Given the description of an element on the screen output the (x, y) to click on. 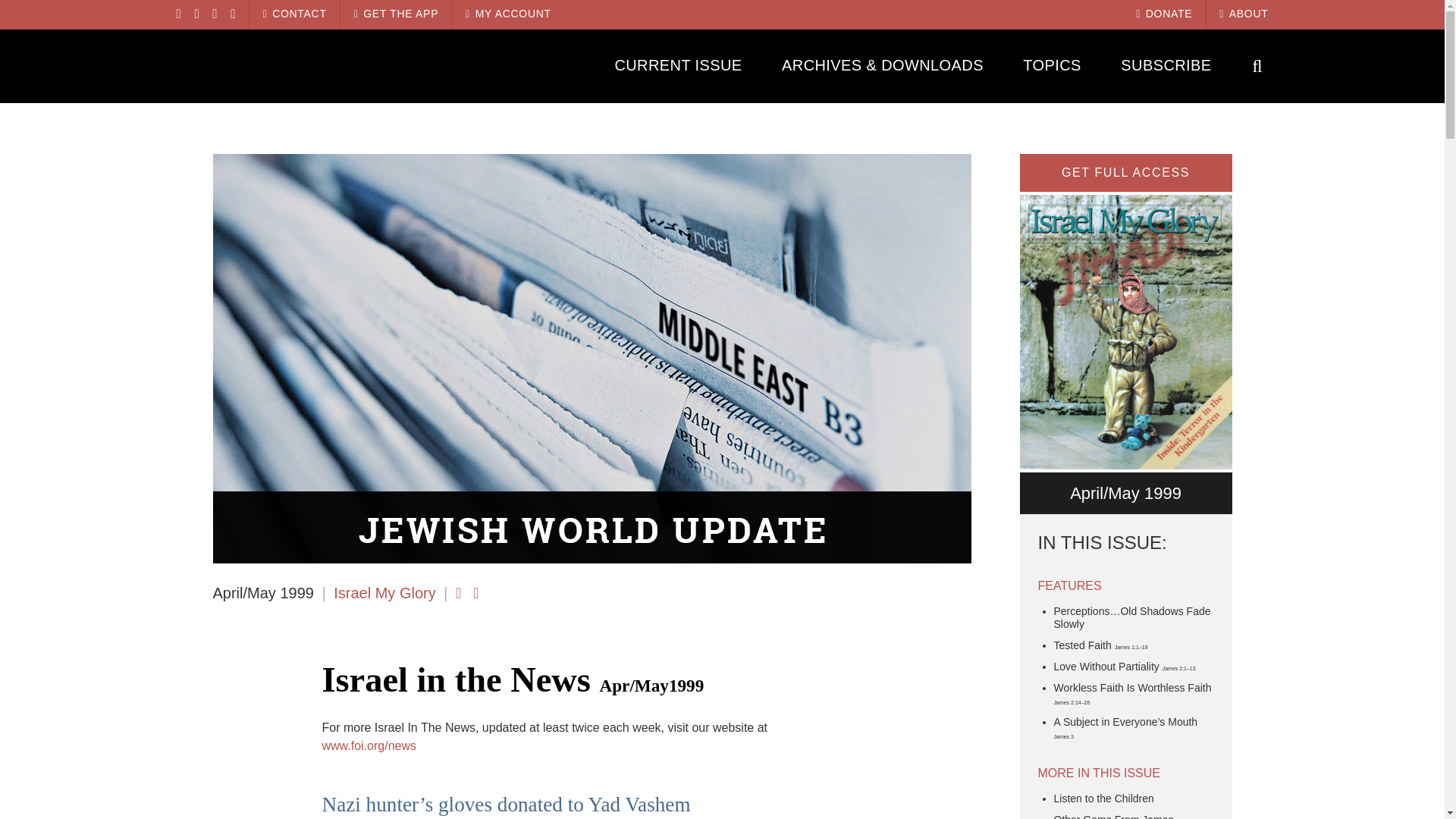
TOPICS (1052, 65)
MY ACCOUNT (508, 13)
Israel My Glory (384, 592)
GET FULL ACCESS (1125, 172)
CURRENT ISSUE (677, 65)
ABOUT (1244, 13)
SUBSCRIBE (1166, 65)
DONATE (1163, 13)
CONTACT (294, 13)
GET THE APP (396, 13)
Israel My Glory (309, 65)
